Given the description of an element on the screen output the (x, y) to click on. 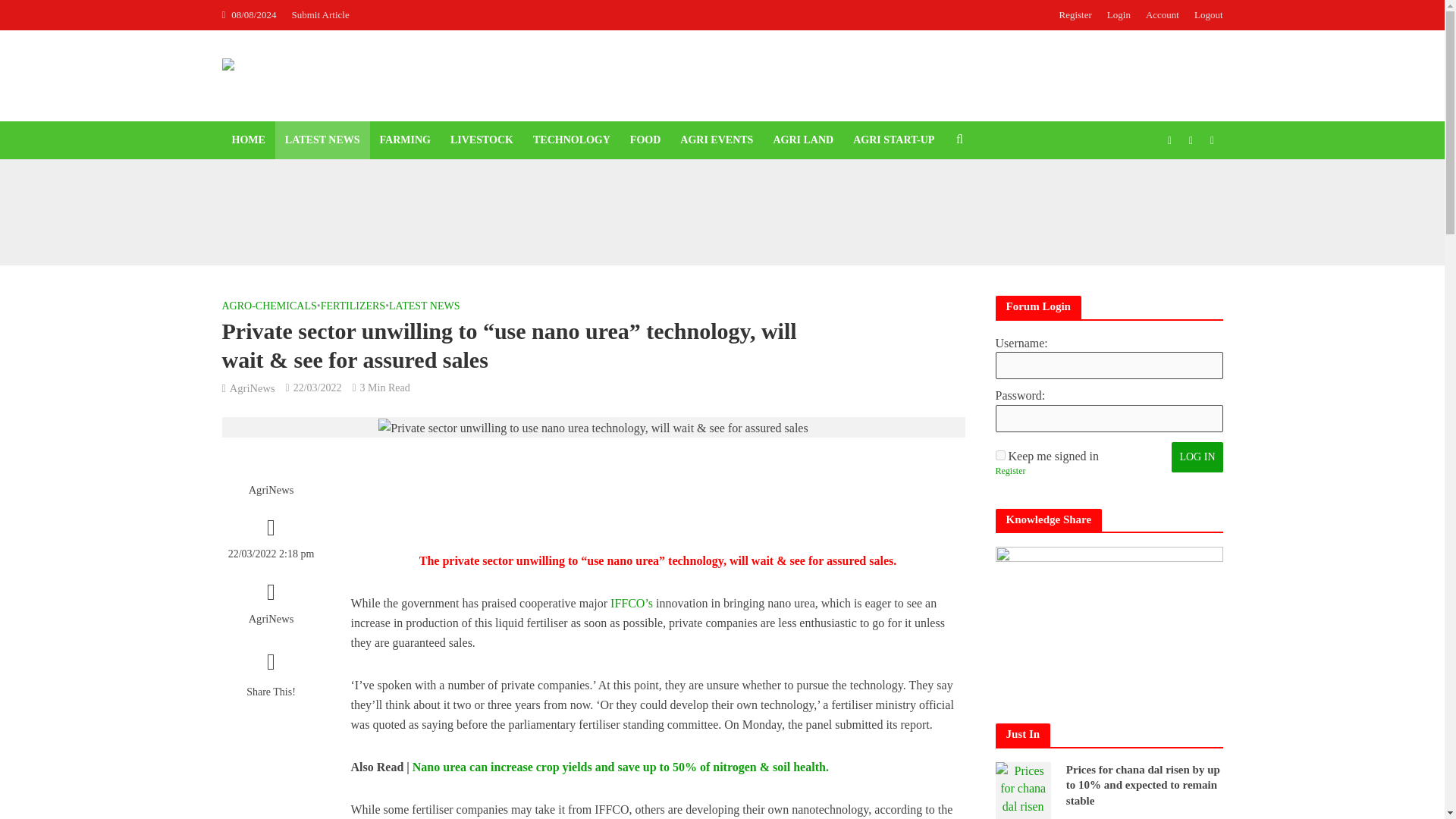
LATEST NEWS (322, 139)
Register (1075, 15)
Submit Article (323, 15)
Logout (1204, 15)
AGRI LAND (802, 139)
Register (1009, 471)
Account (1162, 15)
FOOD (644, 139)
AGRI START-UP (893, 139)
AGRI EVENTS (715, 139)
